Given the description of an element on the screen output the (x, y) to click on. 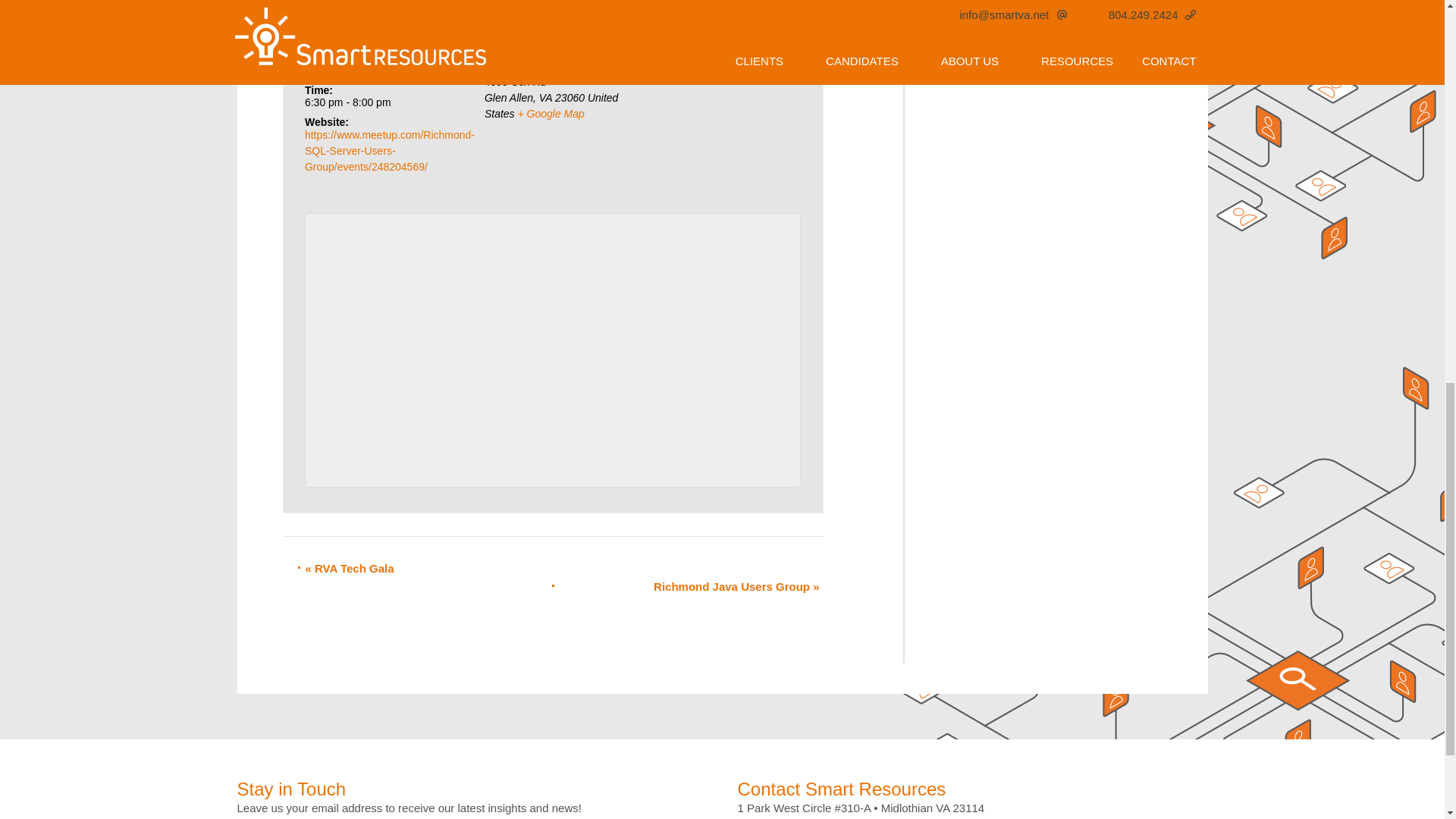
2018-05-10 (336, 69)
2018-05-10 (372, 101)
Click to view a Google Map (551, 113)
Virginia (544, 97)
